Given the description of an element on the screen output the (x, y) to click on. 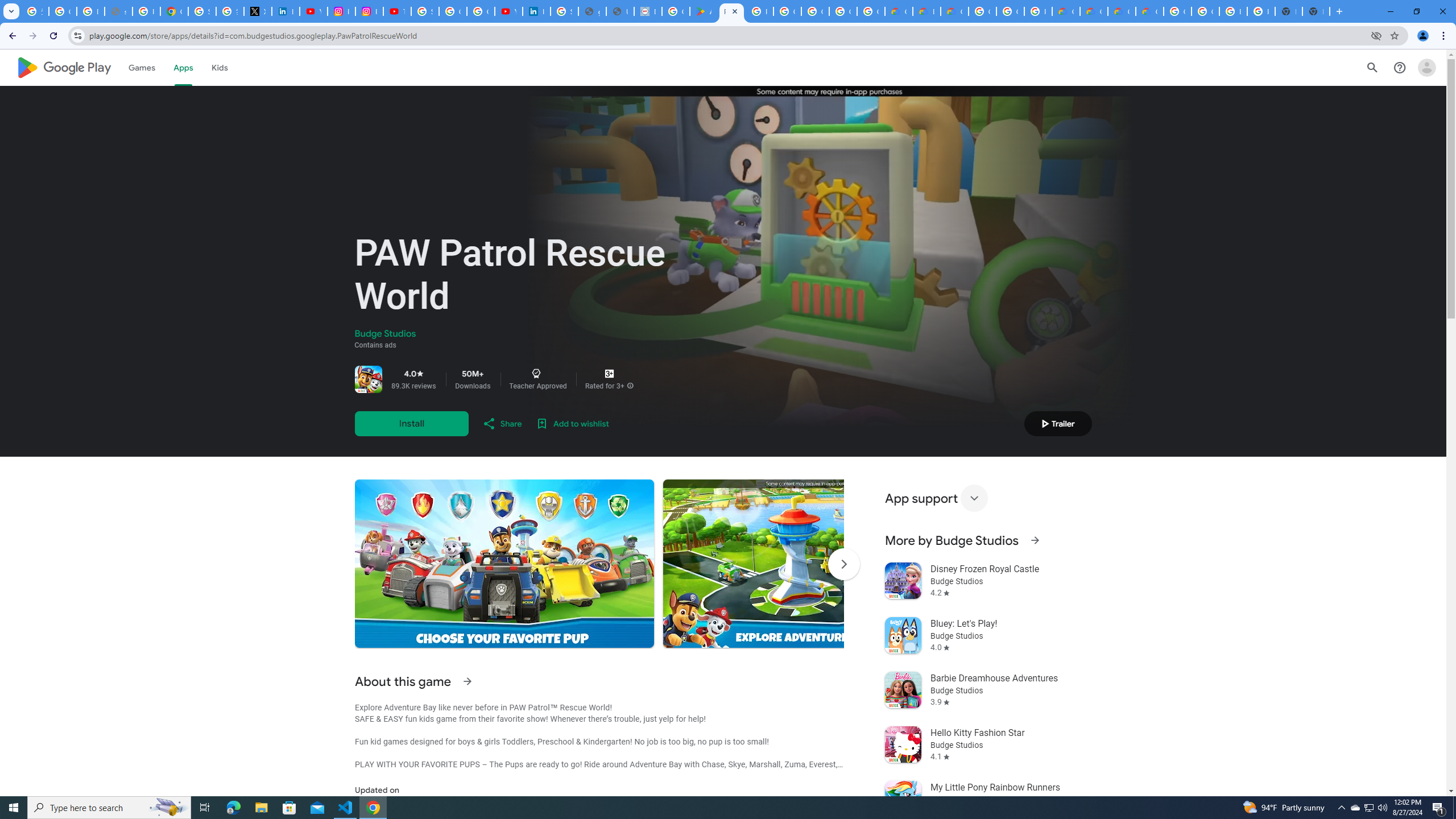
Sign in - Google Accounts (202, 11)
Android Apps on Google Play (703, 11)
Screenshot image (812, 563)
PAW Patrol Rescue World - Apps on Google Play (731, 11)
Expand (973, 497)
Google Workspace - Specific Terms (842, 11)
X (257, 11)
Google Cloud Pricing Calculator (1093, 11)
